Given the description of an element on the screen output the (x, y) to click on. 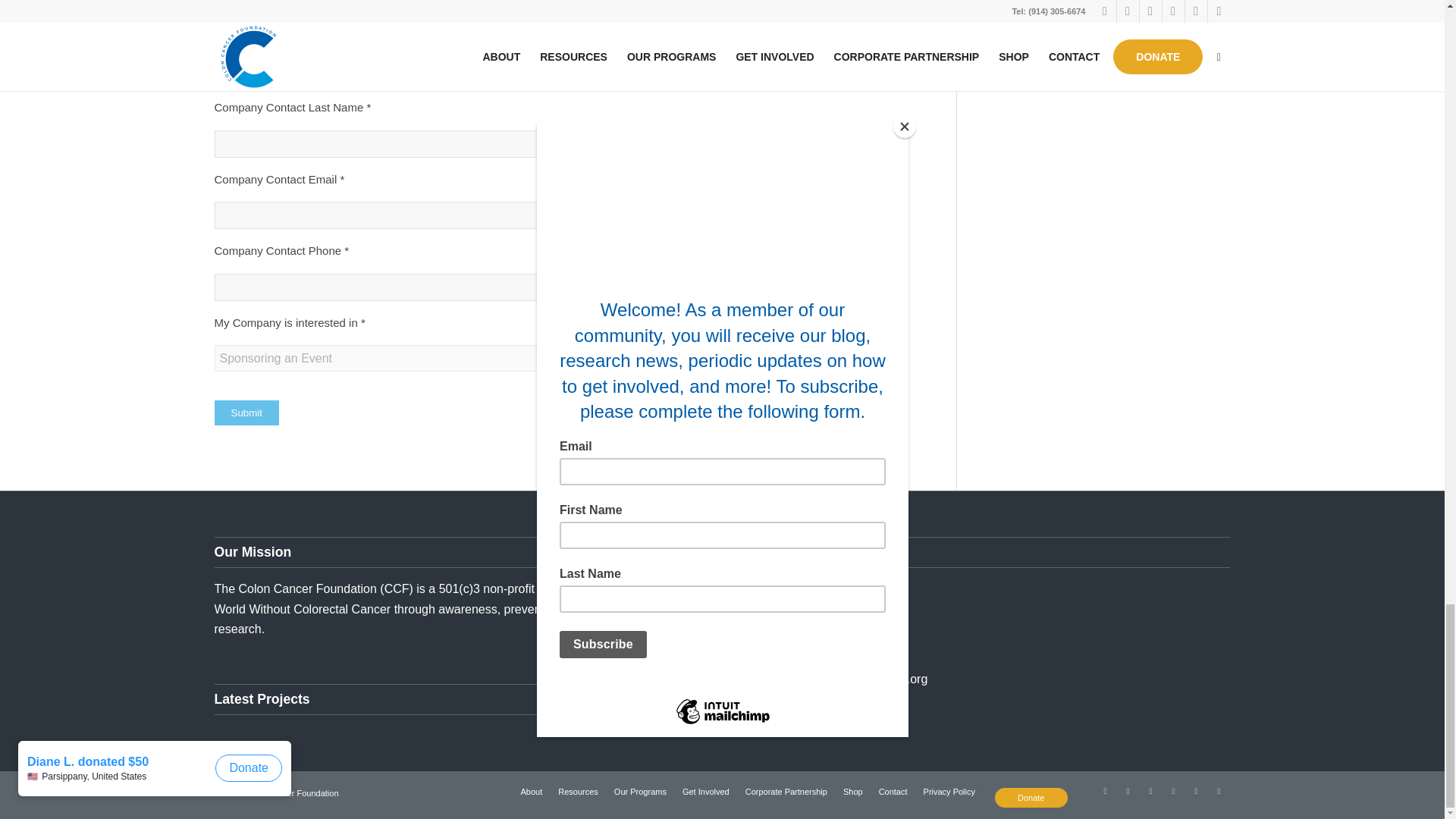
Twitter (1149, 790)
Mail (1104, 790)
Facebook (1127, 790)
Submit (246, 412)
